Given the description of an element on the screen output the (x, y) to click on. 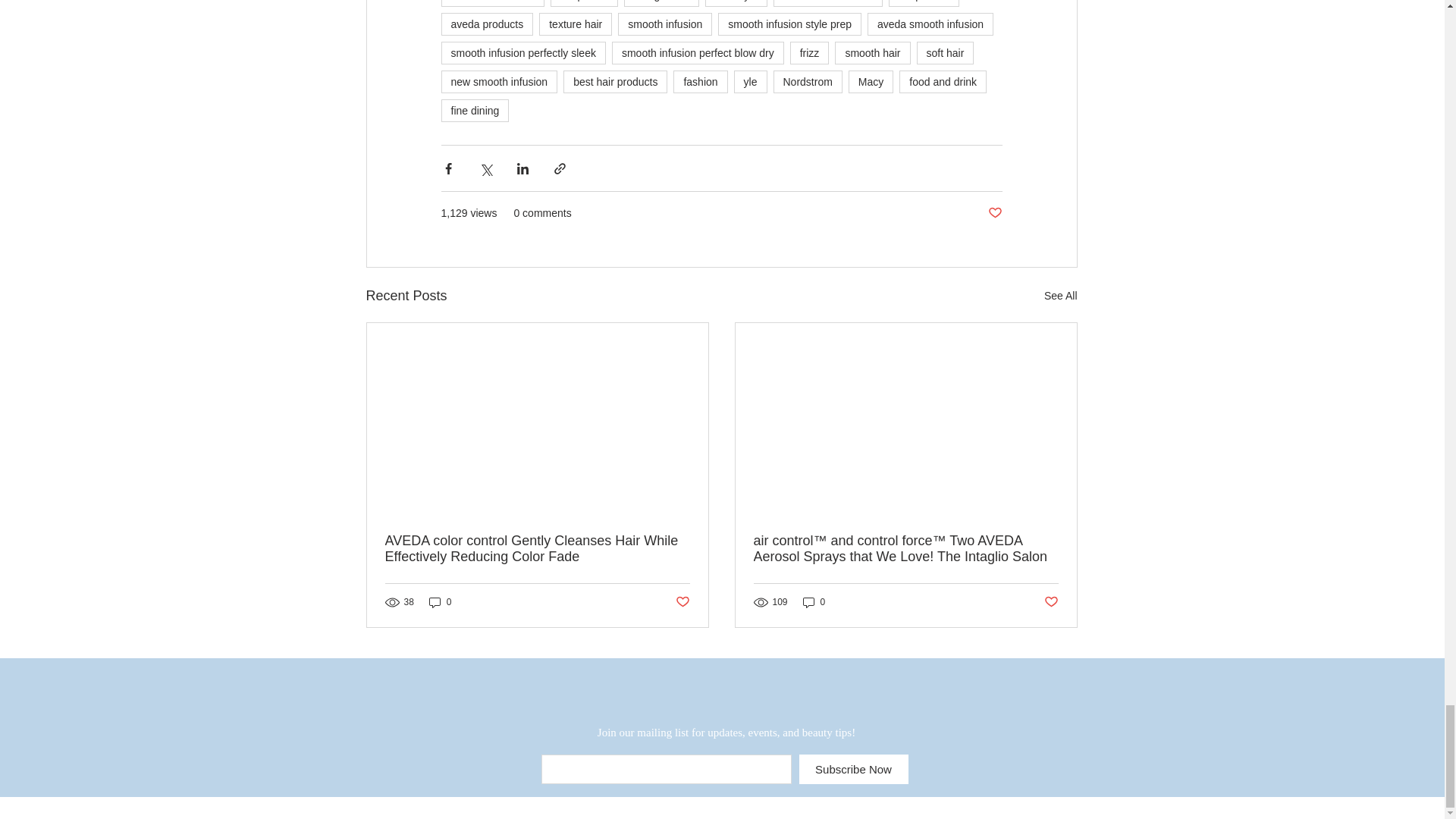
smooth infusion perfectly sleek (523, 52)
aveda smooth infusion (929, 24)
smooth infusion style prep (789, 24)
texture hair (574, 24)
smooth infusion (664, 24)
smooth hair (872, 52)
shop small (923, 3)
hair style (735, 3)
aveda products (487, 24)
tacoma hair salons (827, 3)
